Given the description of an element on the screen output the (x, y) to click on. 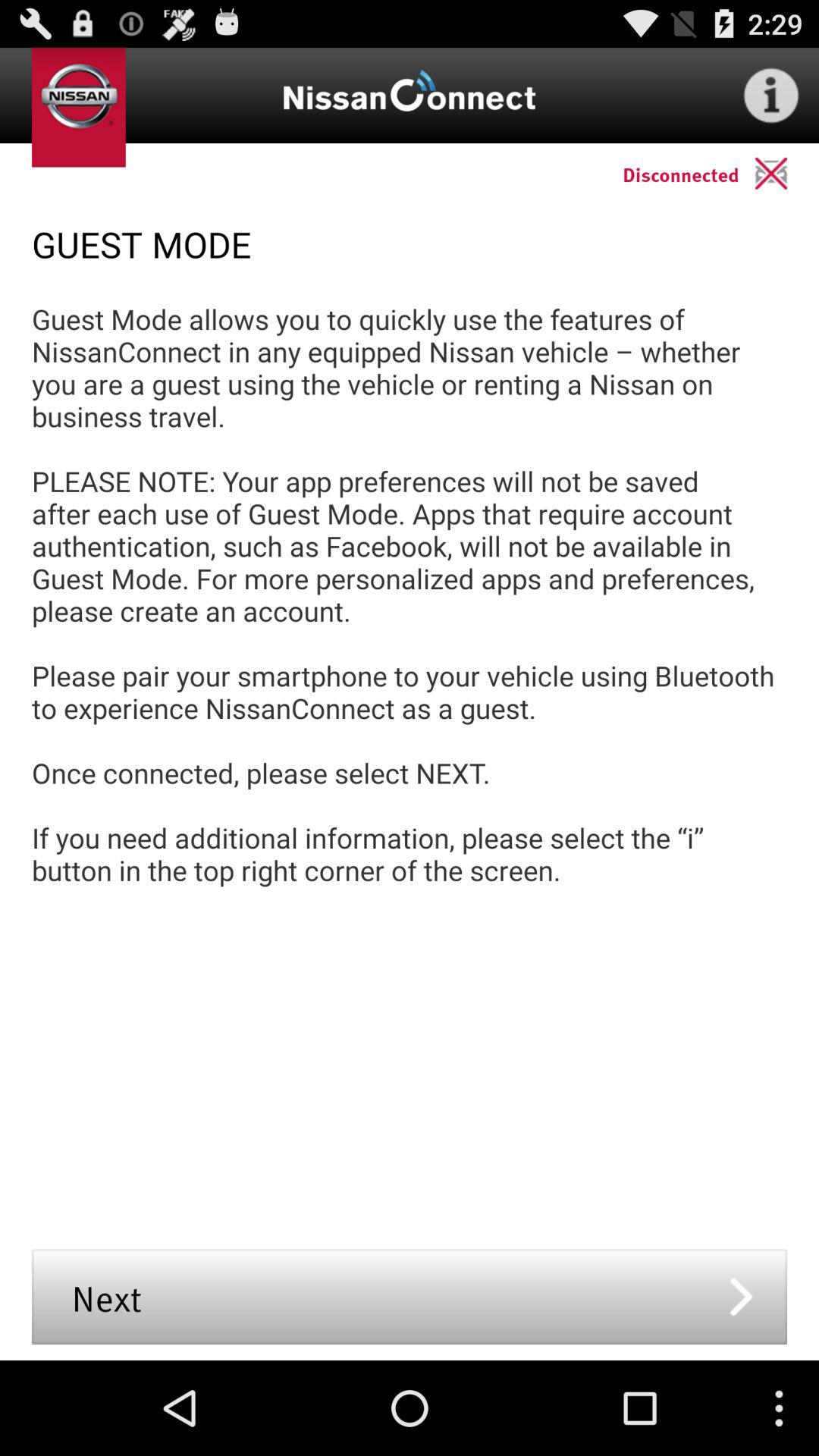
turn on the icon below the guest mode allows app (409, 1296)
